Given the description of an element on the screen output the (x, y) to click on. 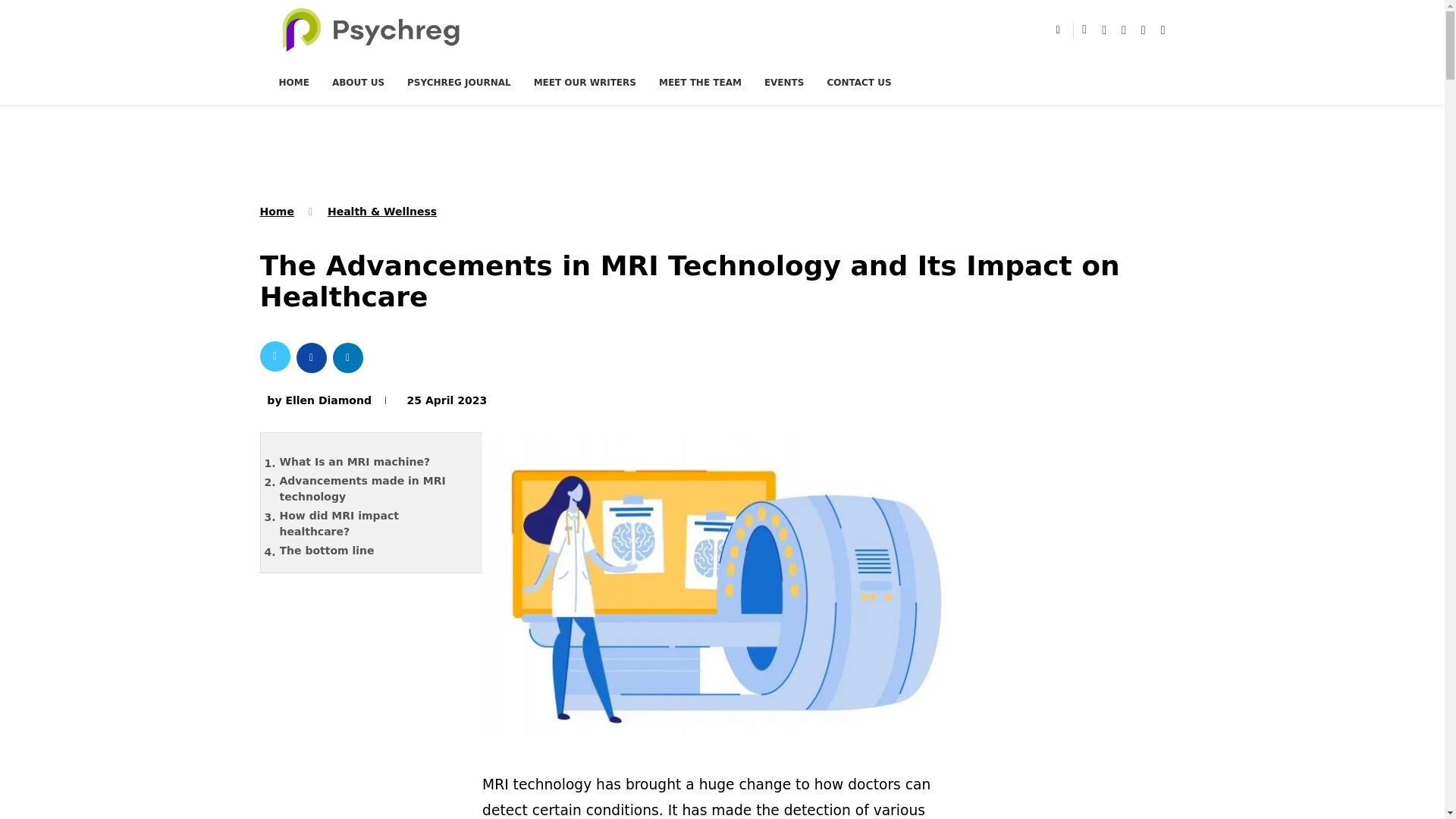
CONTACT US (859, 82)
MEET OUR WRITERS (585, 82)
Advancements made in MRI technology (373, 489)
The bottom line (373, 550)
EVENTS (784, 82)
MEET THE TEAM (700, 82)
What Is an MRI machine? (373, 461)
How did MRI impact healthcare? (373, 523)
PSYCHREG JOURNAL (459, 82)
ABOUT US (357, 82)
